Given the description of an element on the screen output the (x, y) to click on. 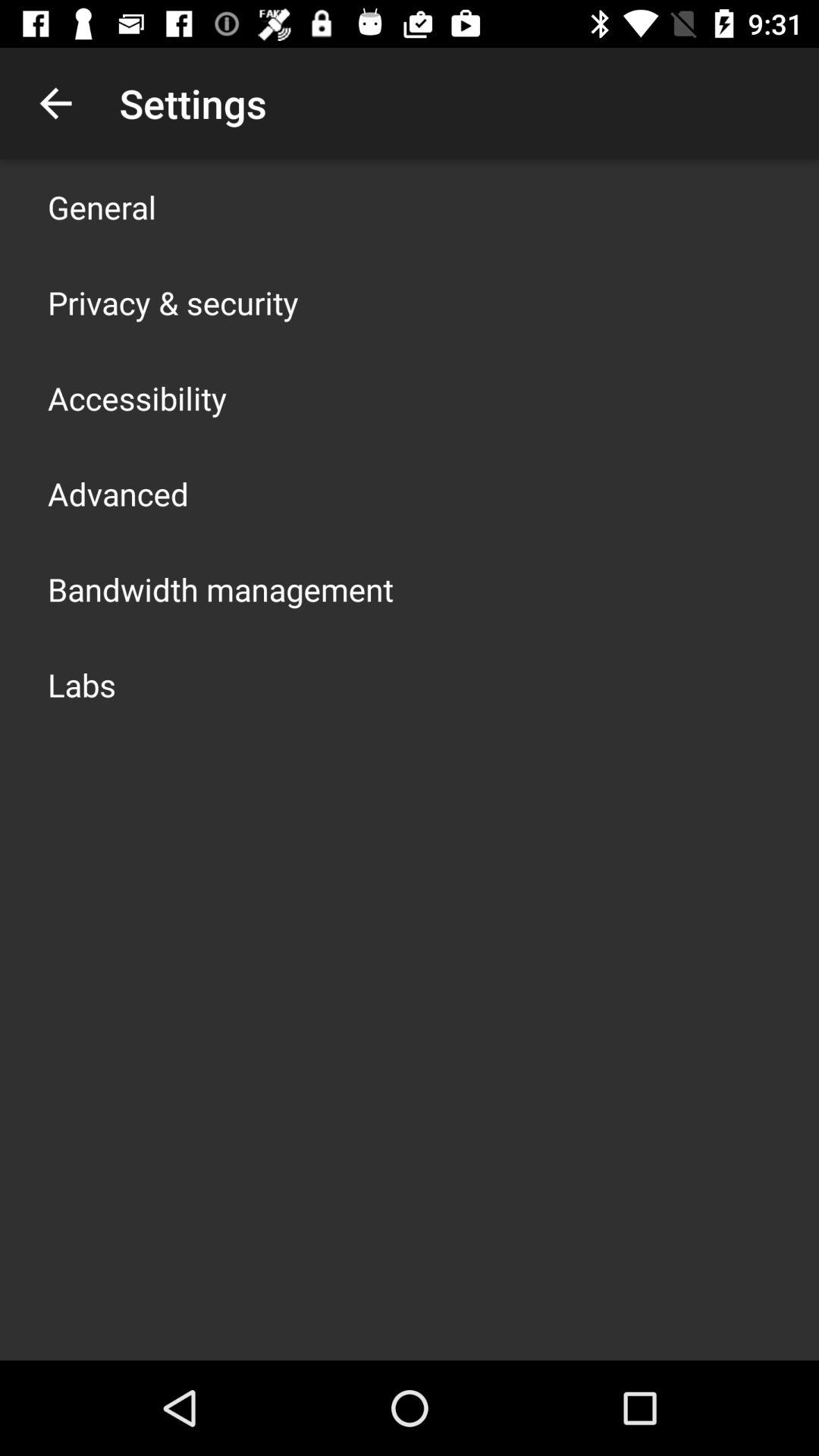
launch icon to the left of settings app (55, 103)
